Given the description of an element on the screen output the (x, y) to click on. 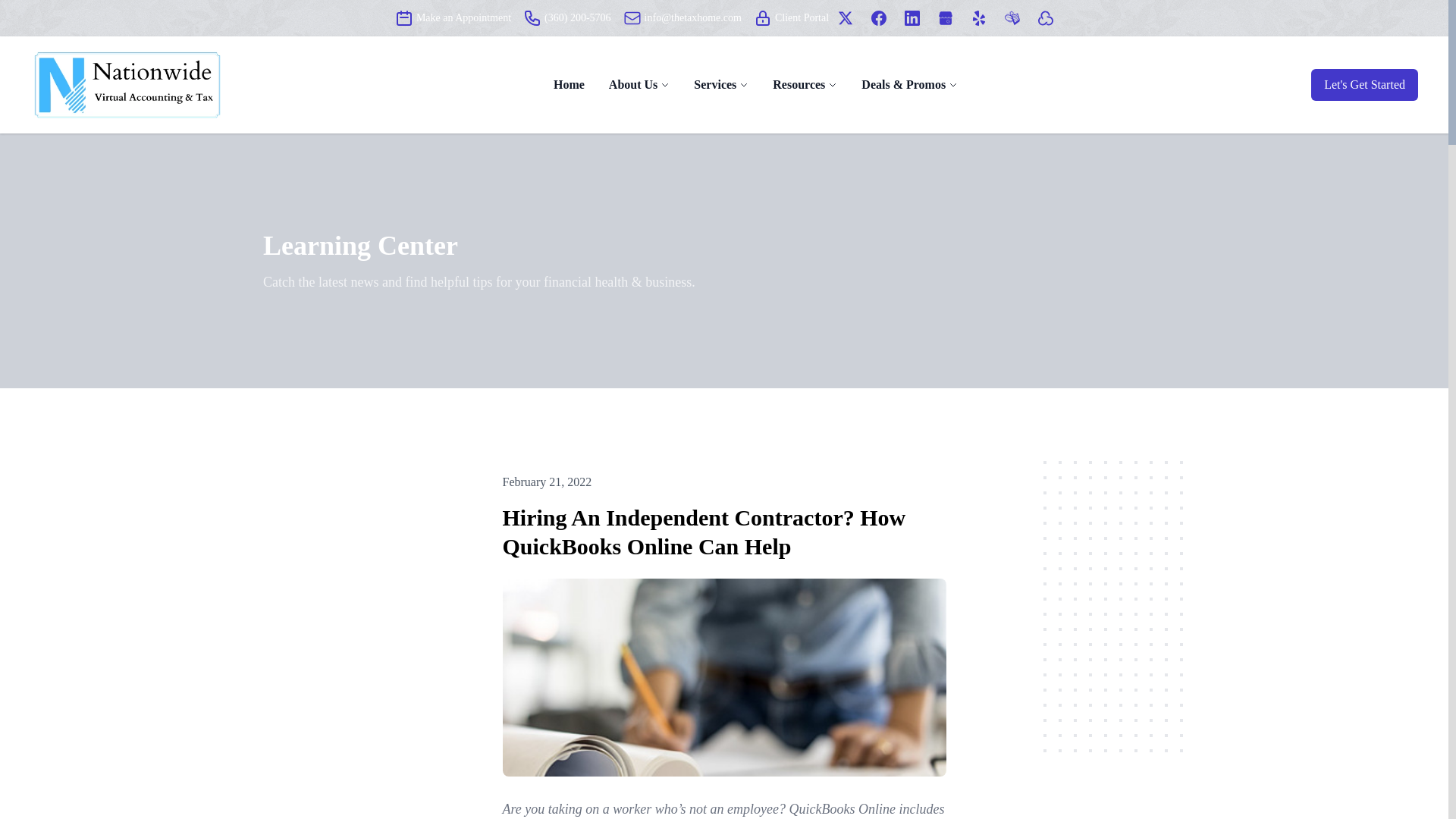
Client Portal (762, 18)
email address (632, 18)
Client Portal (791, 18)
TaxBuzz (1012, 17)
CountingWorks (1045, 17)
appointment (403, 18)
LinkedIn (912, 17)
Facebook (878, 17)
phone (531, 18)
Make an Appointment (452, 18)
Home (568, 84)
Let's Get Started (1364, 84)
About Us (633, 85)
Yelp (979, 17)
Services (715, 85)
